Given the description of an element on the screen output the (x, y) to click on. 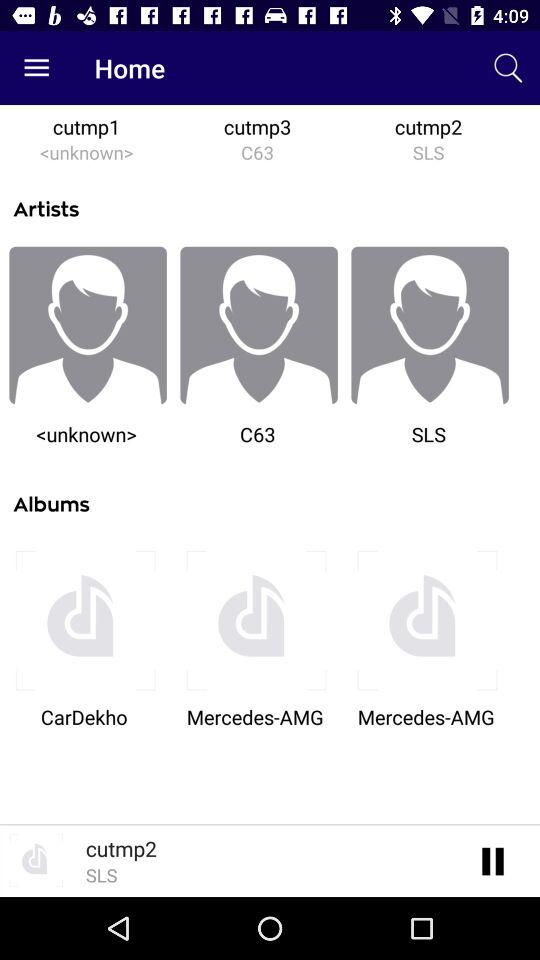
press the item to the left of the home (36, 68)
